Given the description of an element on the screen output the (x, y) to click on. 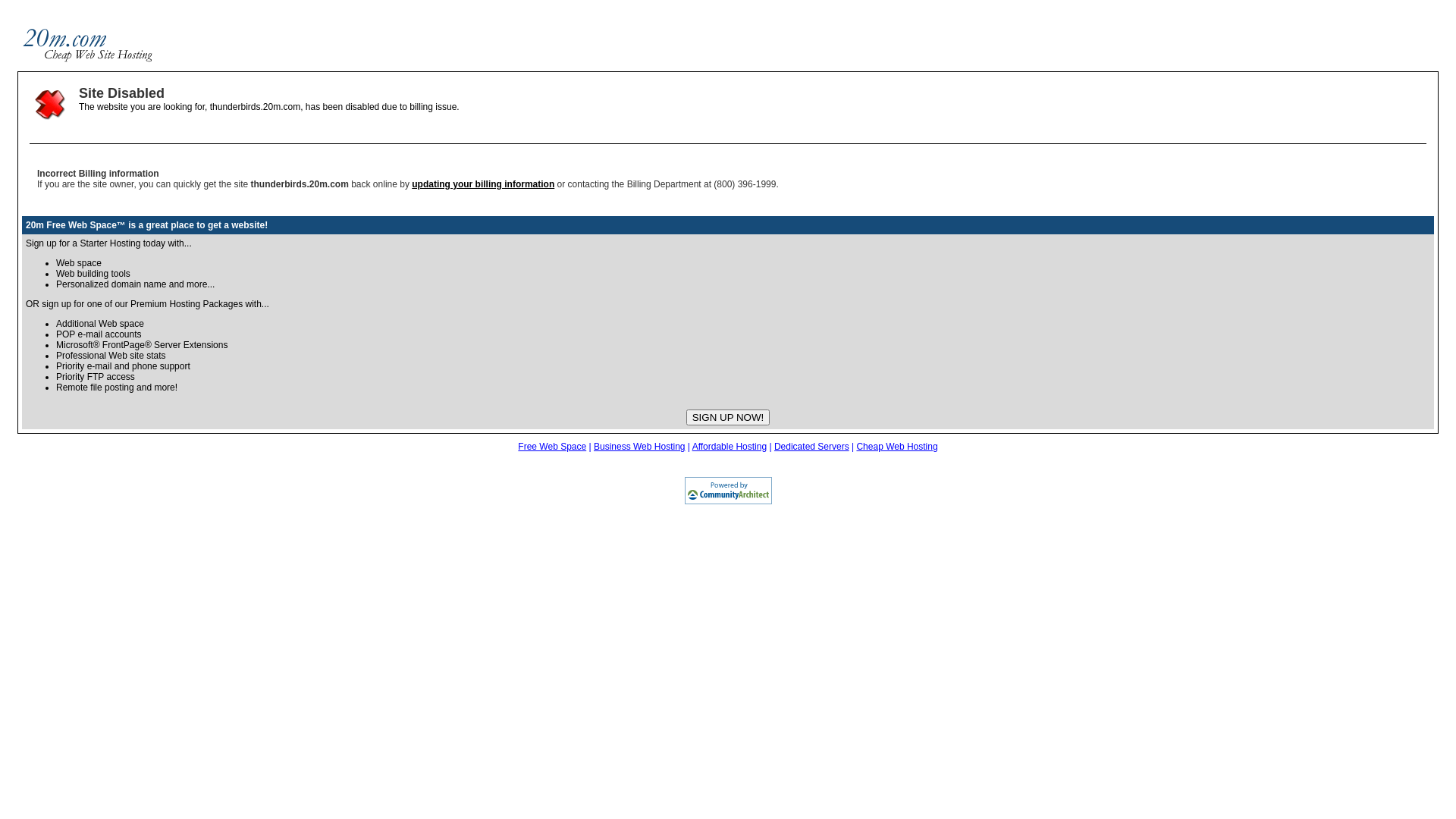
Dedicated Servers Element type: text (811, 446)
Free Web Space Element type: text (551, 446)
Cheap Web Hosting Element type: text (896, 446)
SIGN UP NOW! Element type: text (728, 417)
Affordable Hosting Element type: text (729, 446)
Business Web Hosting Element type: text (639, 446)
updating your billing information Element type: text (482, 183)
